Given the description of an element on the screen output the (x, y) to click on. 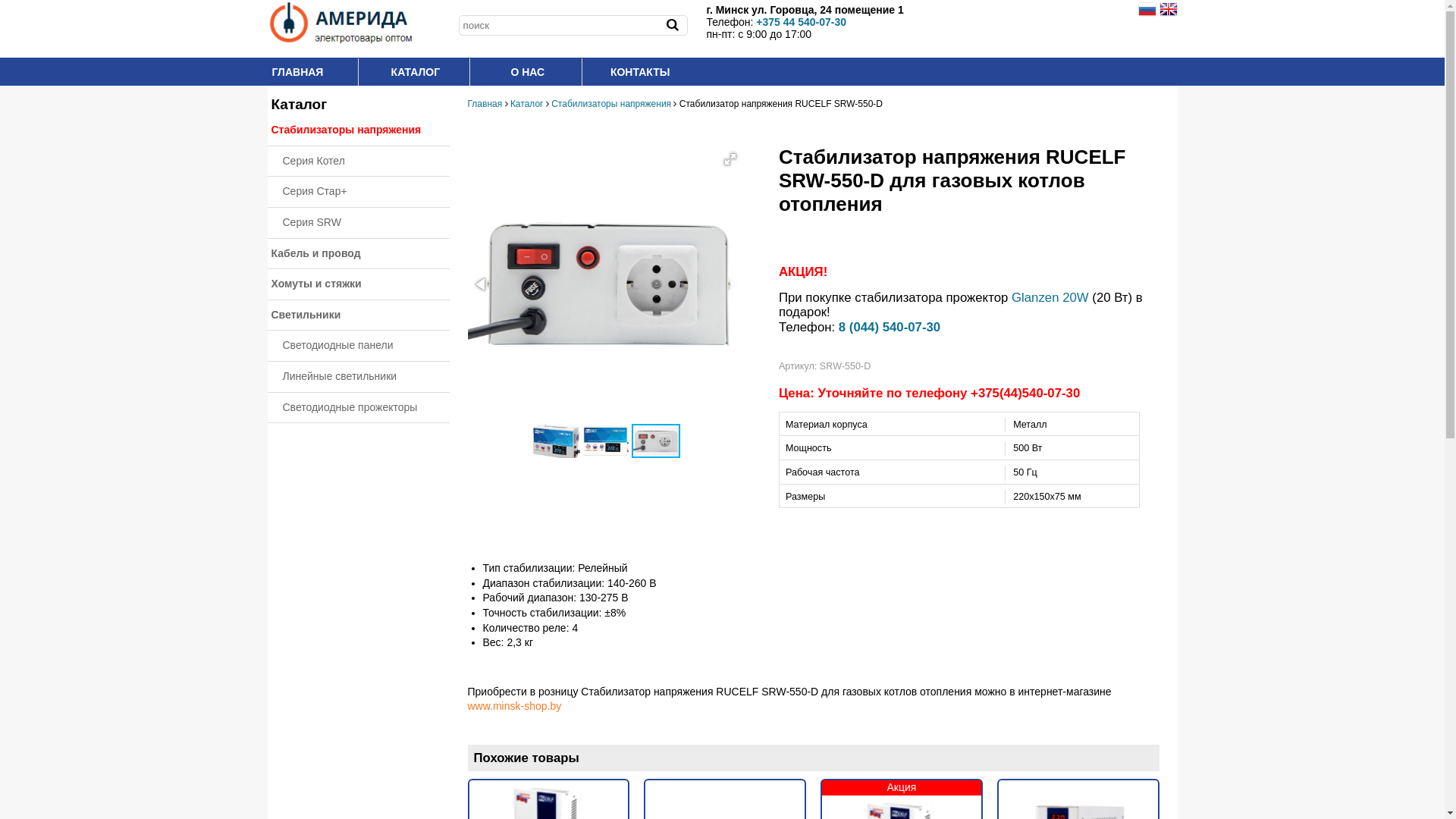
Glanzen 20W Element type: text (1049, 297)
+375 44 540-07-30 Element type: text (801, 21)
www.minsk-shop.by Element type: text (514, 705)
8 (044) 540-07-30 Element type: text (889, 327)
amerida.by Element type: hover (357, 22)
